Given the description of an element on the screen output the (x, y) to click on. 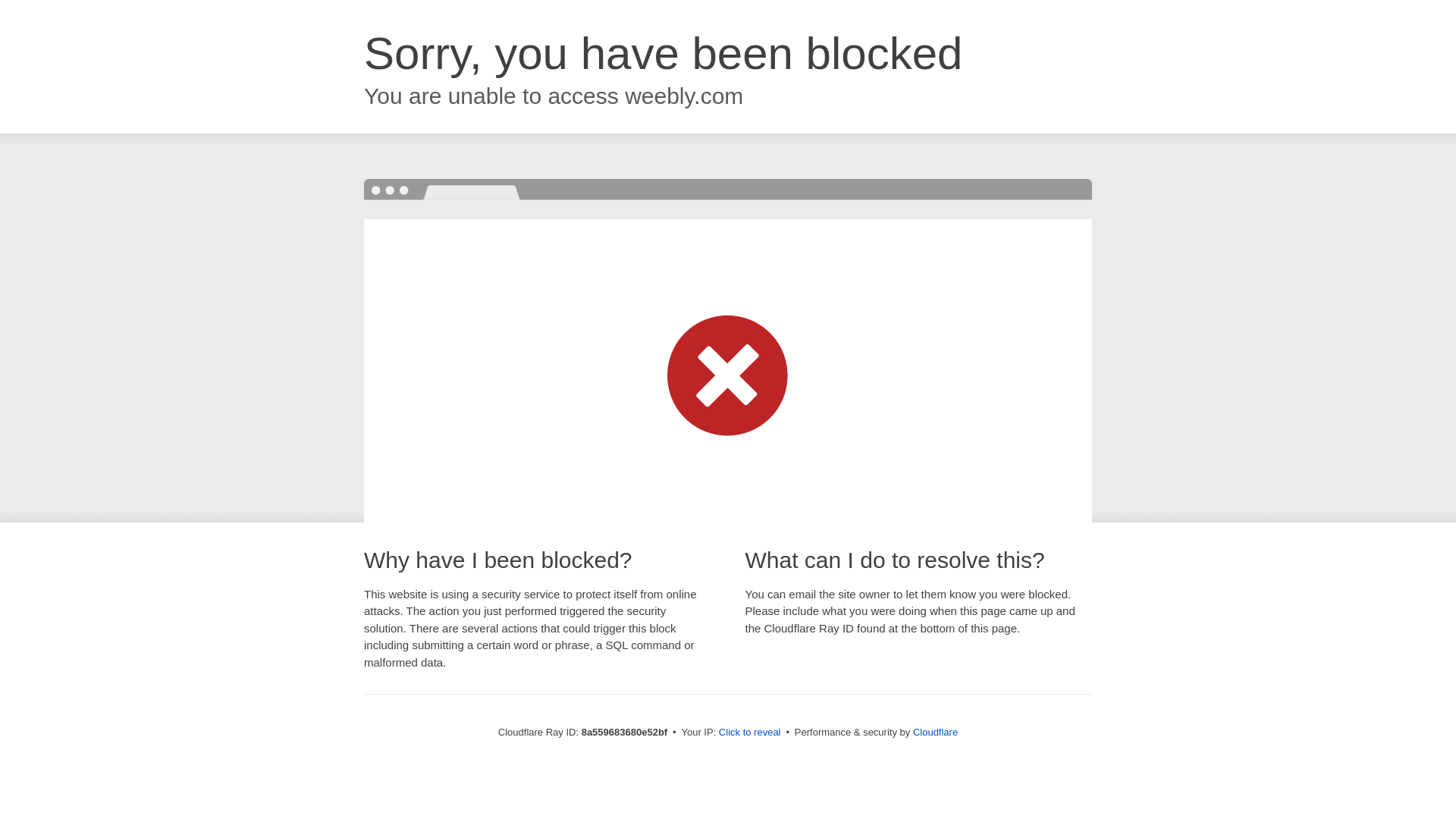
Cloudflare (935, 731)
Click to reveal (749, 732)
